Given the description of an element on the screen output the (x, y) to click on. 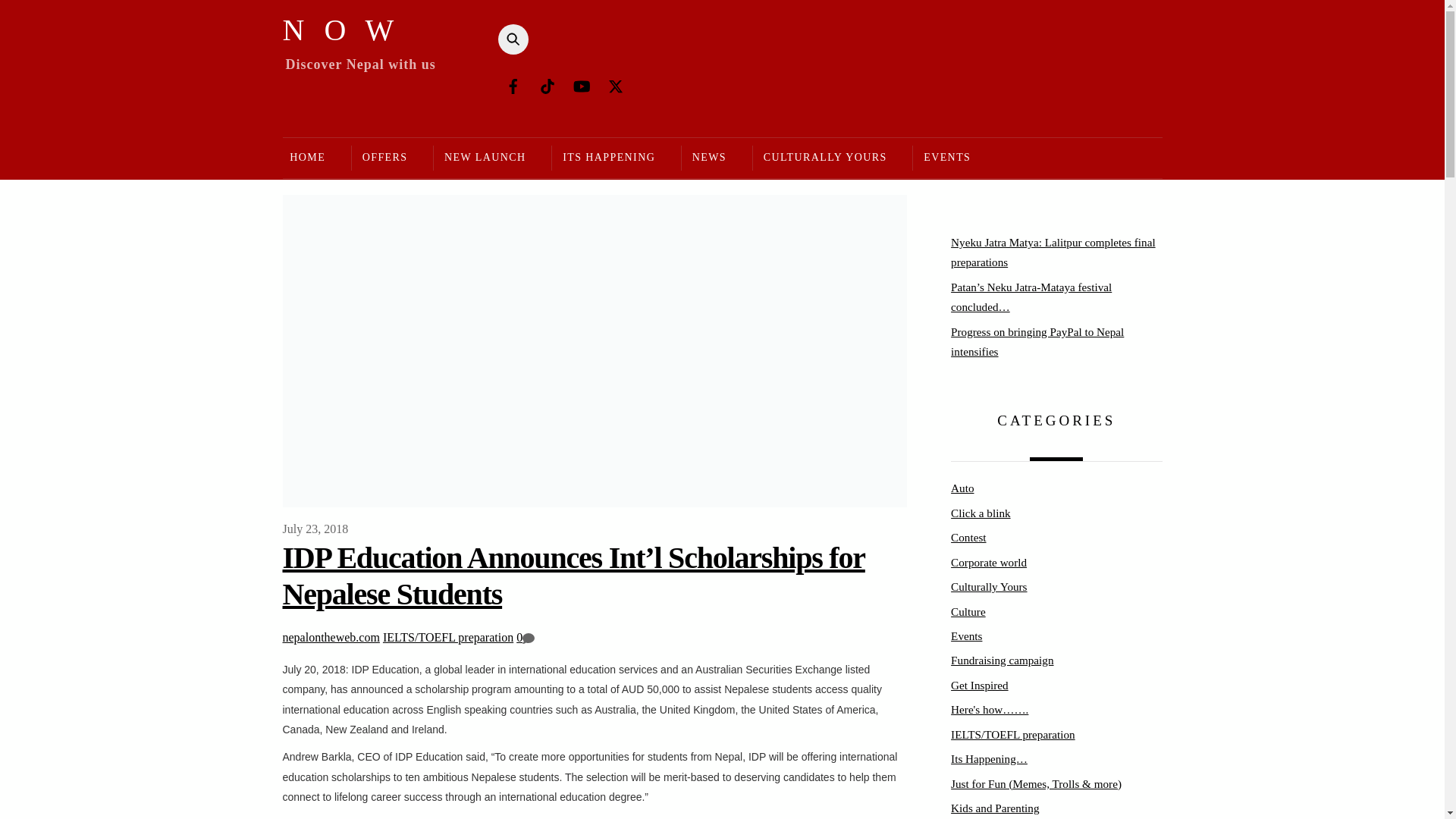
NEW LAUNCH (483, 157)
Contest (967, 536)
Search (508, 39)
Progress on bringing PayPal to Nepal intensifies (1037, 341)
EVENTS (946, 157)
NEWS (708, 157)
nepalontheweb.com (330, 636)
N O W (340, 29)
Nyeku Jatra Matya: Lalitpur completes final preparations (1053, 251)
Auto (962, 487)
